Given the description of an element on the screen output the (x, y) to click on. 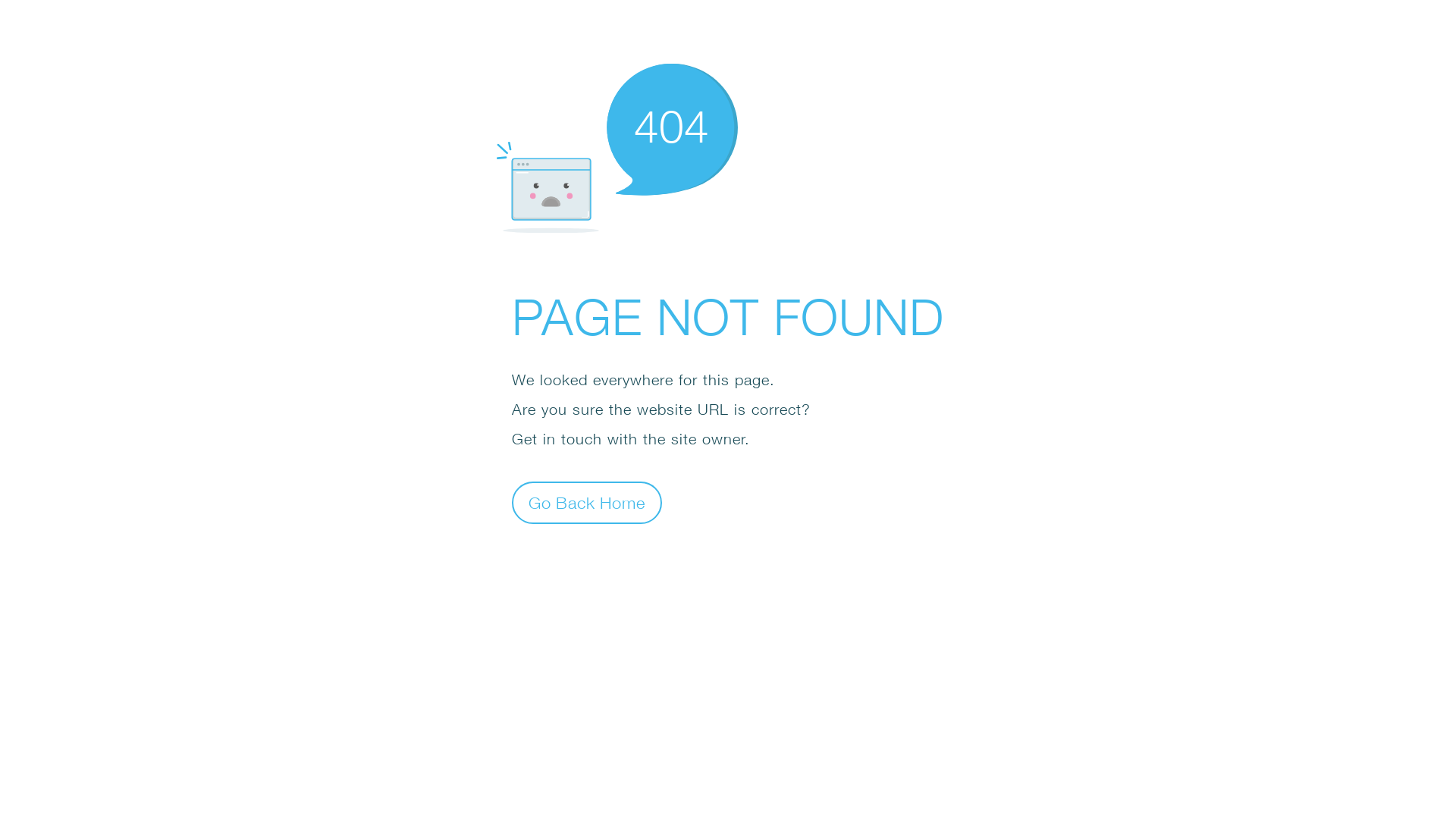
Go Back Home Element type: text (586, 502)
